Given the description of an element on the screen output the (x, y) to click on. 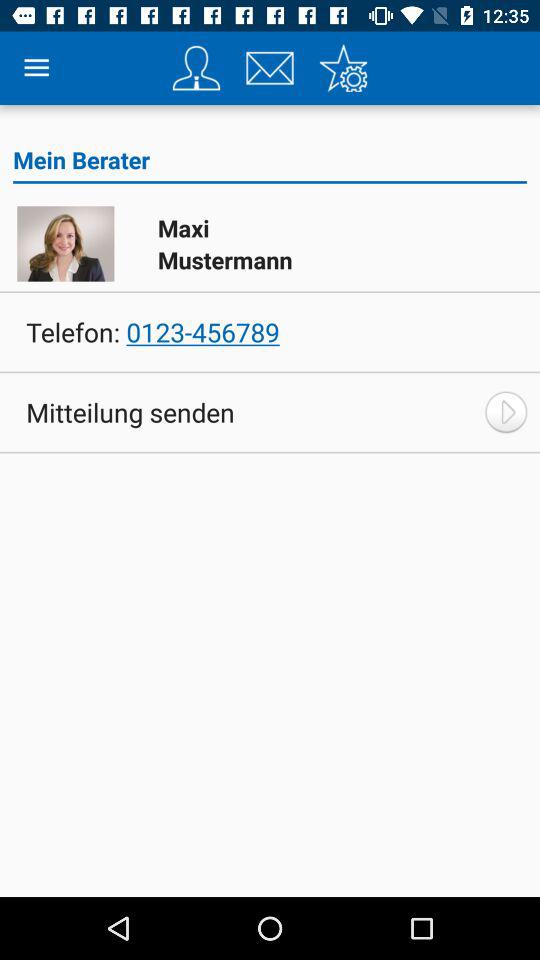
settings (343, 67)
